Given the description of an element on the screen output the (x, y) to click on. 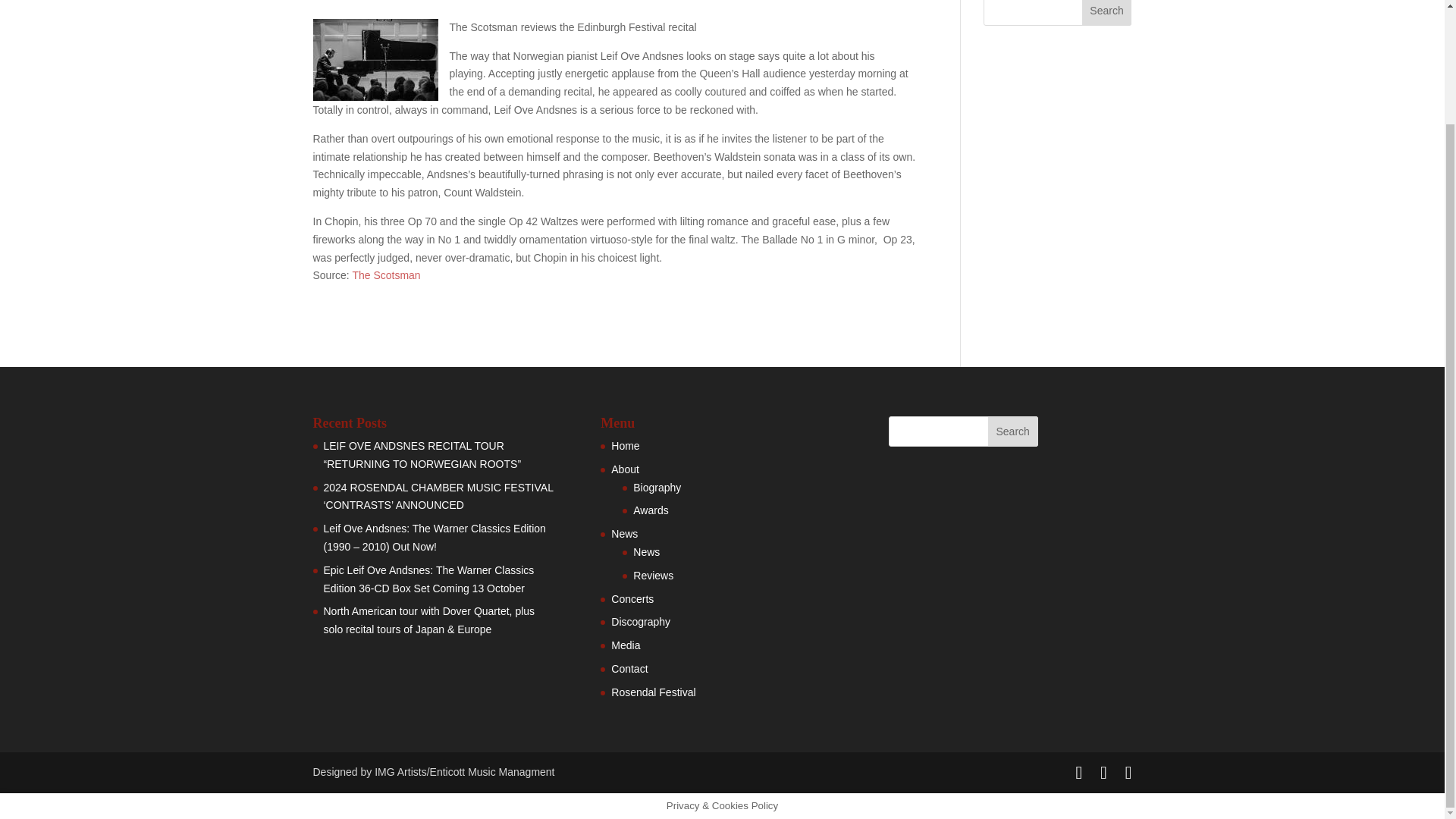
Search (1013, 431)
Search (1106, 12)
The Scotsman (386, 275)
Awards (650, 510)
Contact (629, 668)
Home (625, 445)
About (625, 469)
Biography (657, 487)
Discography (640, 621)
Concerts (632, 598)
